Given the description of an element on the screen output the (x, y) to click on. 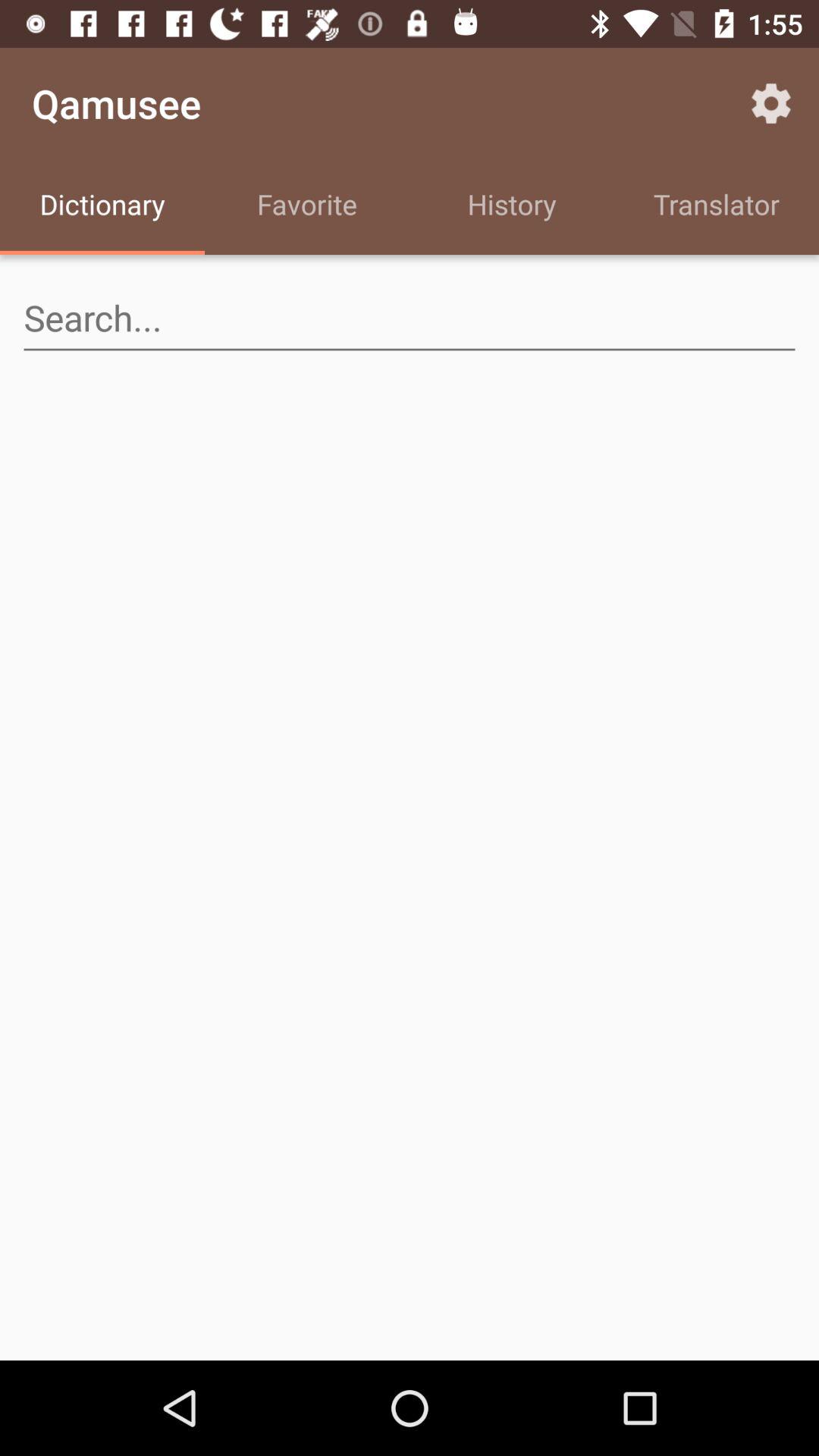
launch the icon next to history item (716, 206)
